Given the description of an element on the screen output the (x, y) to click on. 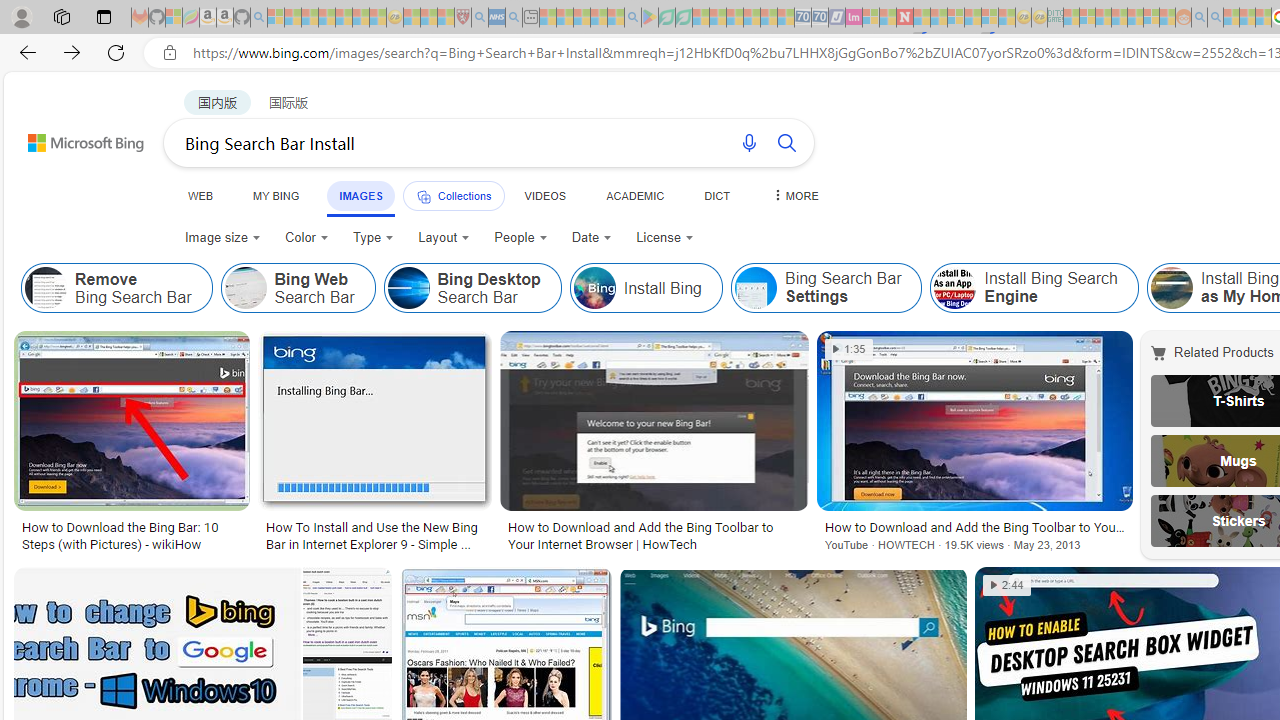
Search using voice (748, 142)
Type (372, 237)
Install Bing Search Engine (1033, 287)
DICT (717, 195)
